Given the description of an element on the screen output the (x, y) to click on. 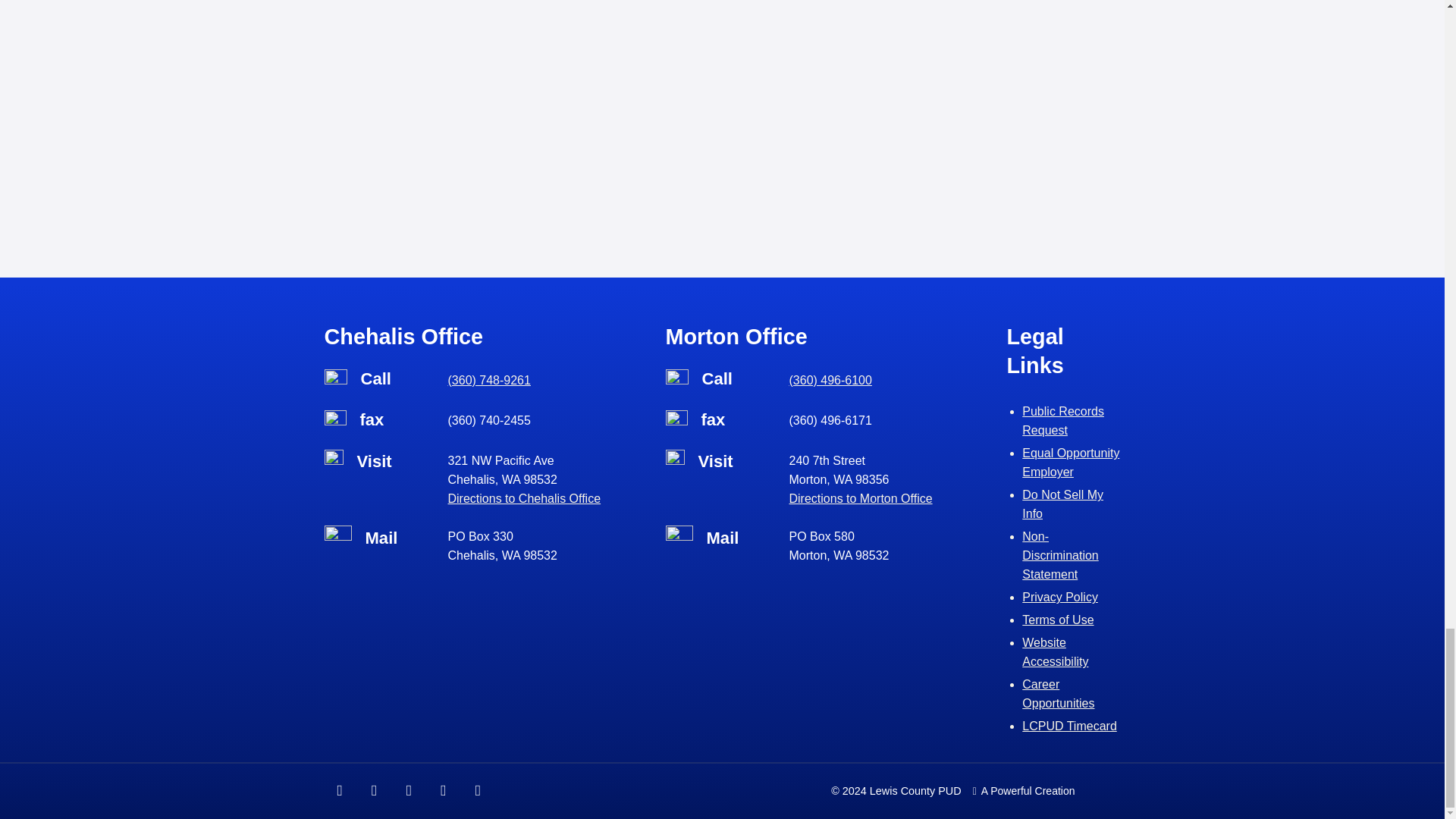
Follow on LinkedIn (444, 791)
Follow on YouTube (479, 791)
Follow on Twitter (409, 791)
Follow on Instagram (374, 791)
Follow on Facebook (340, 791)
